Given the description of an element on the screen output the (x, y) to click on. 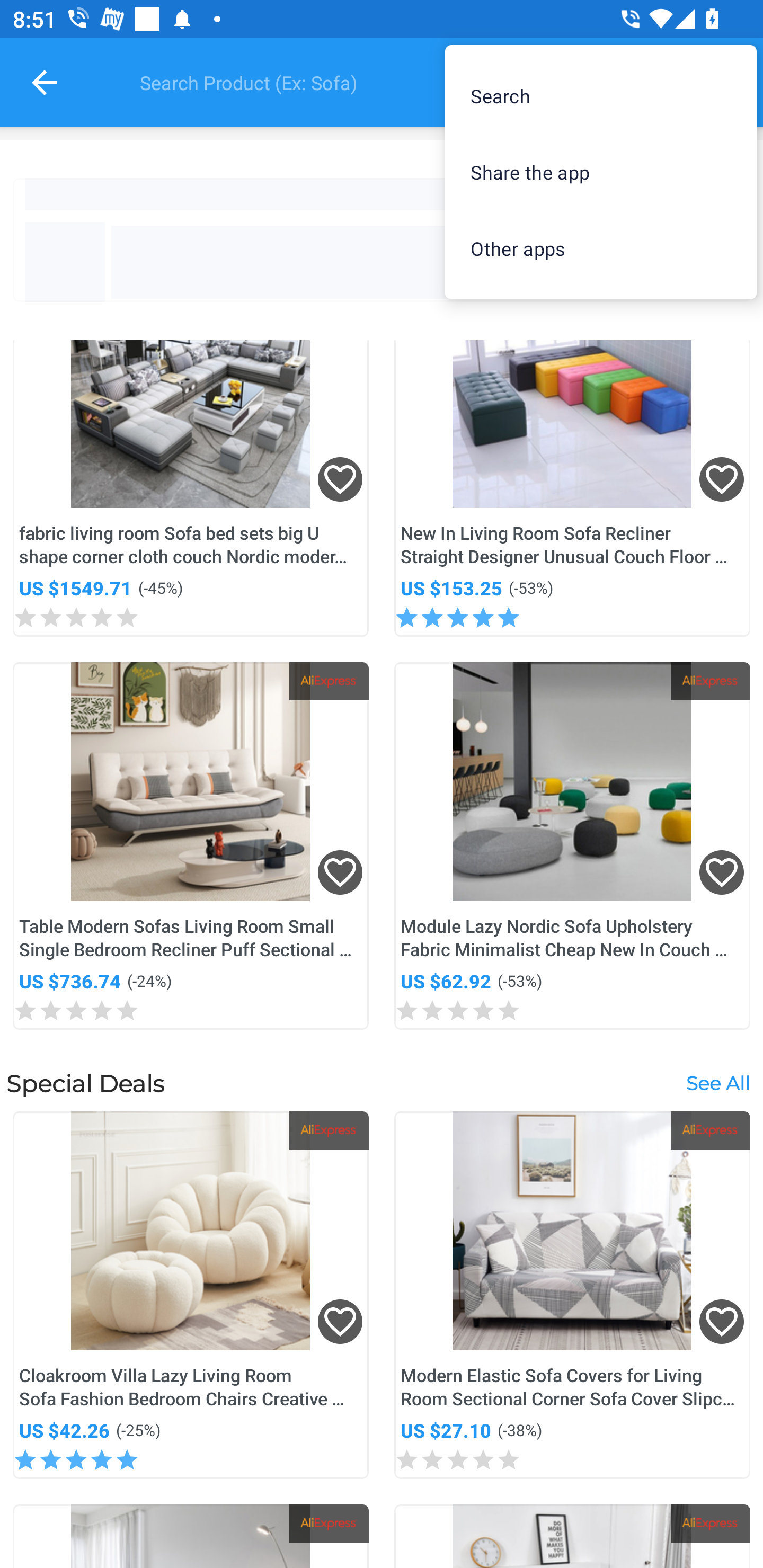
Search (600, 95)
Share the app (600, 171)
Other apps (600, 248)
